Given the description of an element on the screen output the (x, y) to click on. 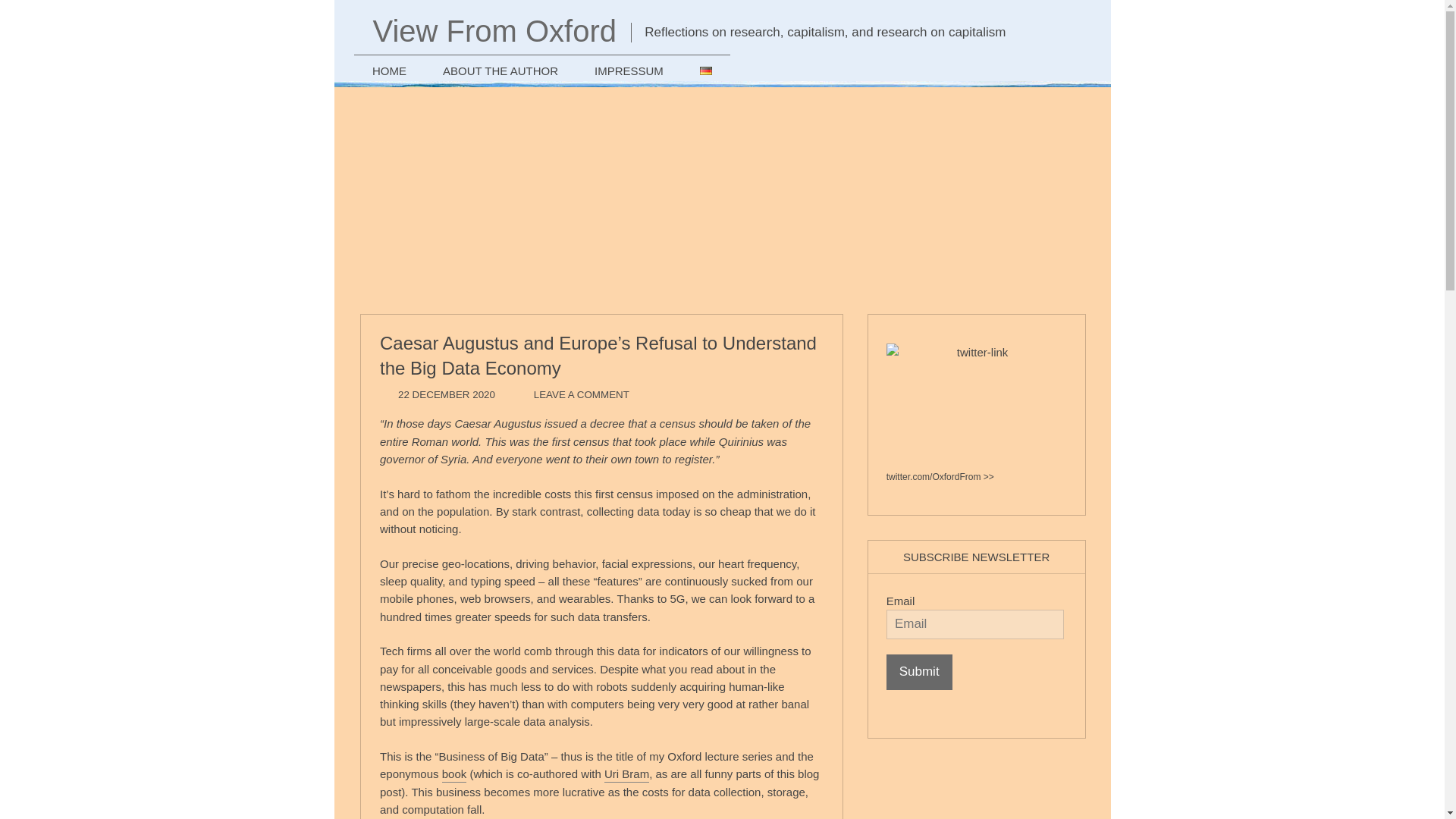
Submit (919, 672)
View all posts by martin (550, 395)
22 DECEMBER 2020 (446, 395)
MARTIN (550, 395)
book (454, 774)
View From Oxford (493, 30)
8:58 AM (446, 395)
LEAVE A COMMENT (581, 395)
Uri Bram (626, 774)
ABOUT THE AUTHOR (500, 68)
